Given the description of an element on the screen output the (x, y) to click on. 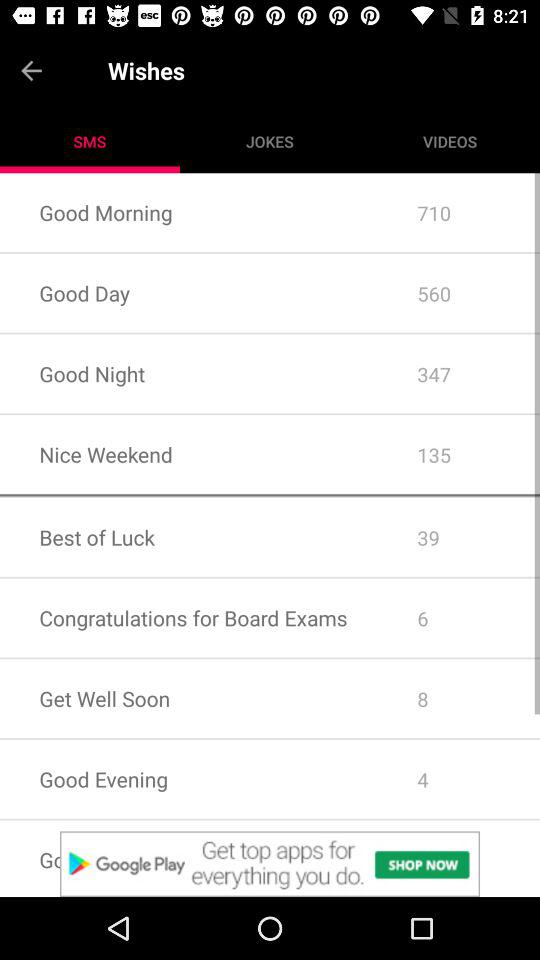
choose the app next to good day app (458, 374)
